Given the description of an element on the screen output the (x, y) to click on. 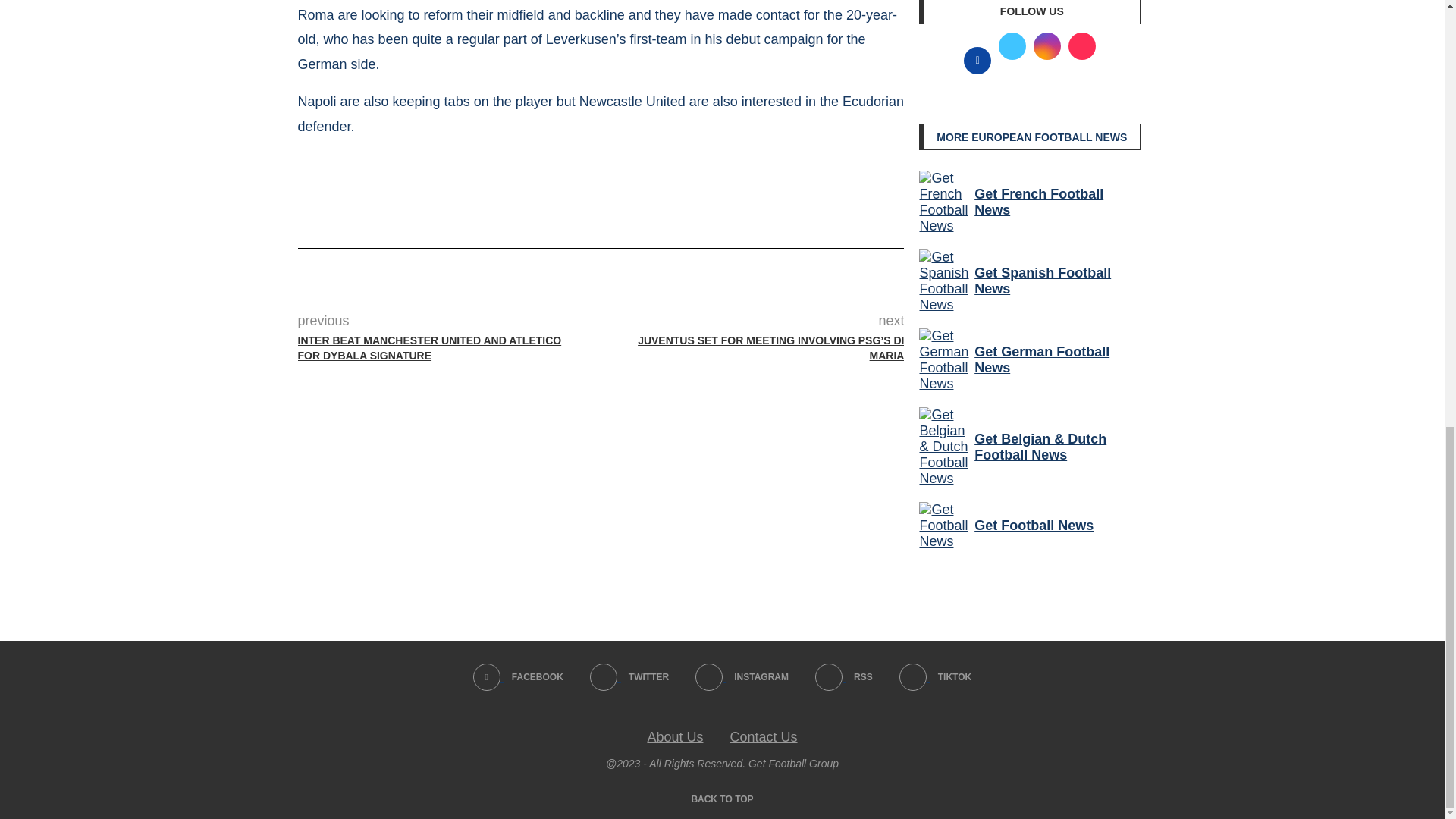
Get Football News (943, 525)
